Given the description of an element on the screen output the (x, y) to click on. 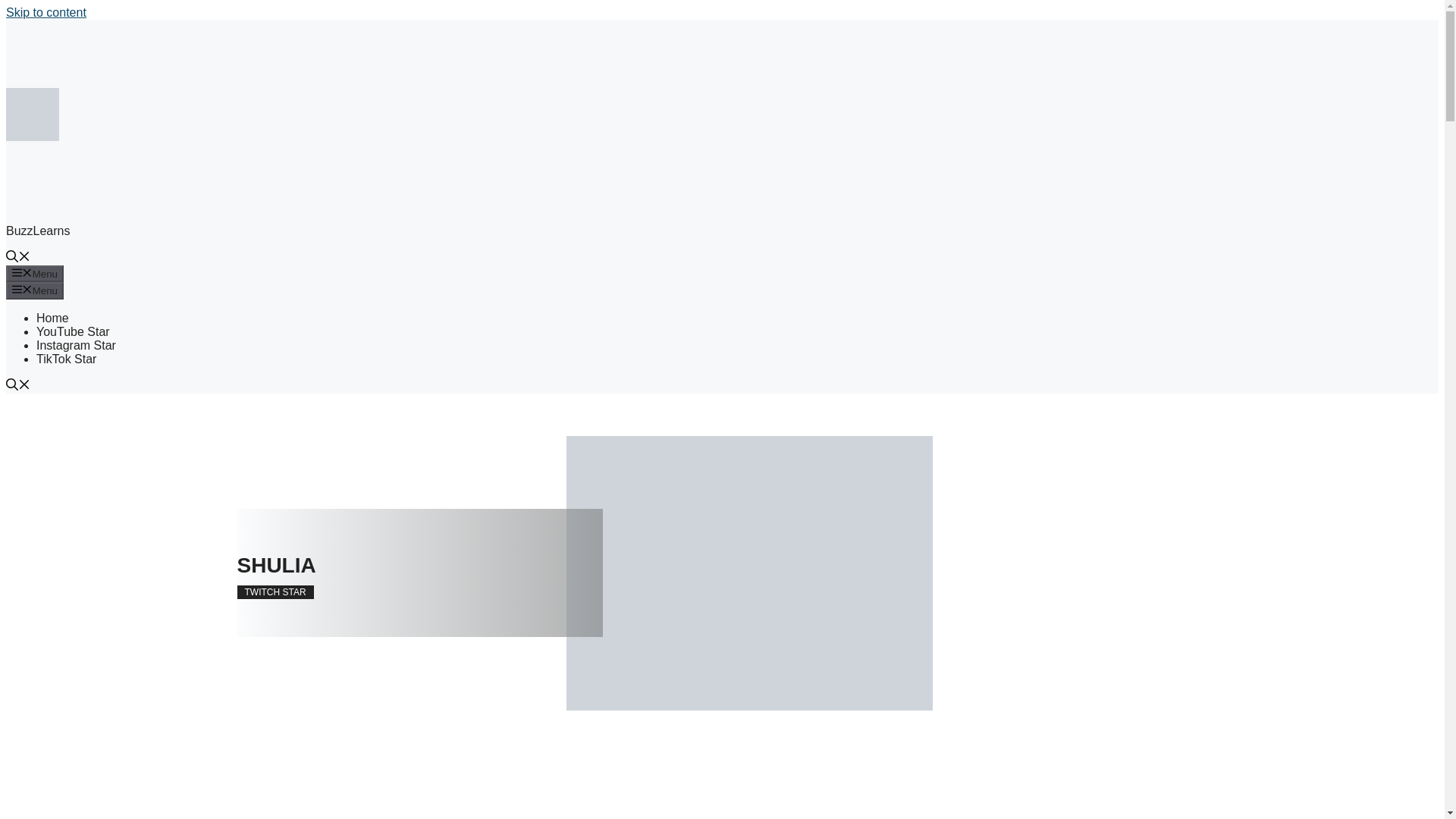
Skip to content (45, 11)
BuzzLearns (37, 230)
YouTube Star (73, 331)
Menu (34, 289)
Skip to content (45, 11)
Home (52, 318)
Instagram Star (76, 345)
TikTok Star (66, 358)
TWITCH STAR (274, 591)
Menu (34, 273)
